Given the description of an element on the screen output the (x, y) to click on. 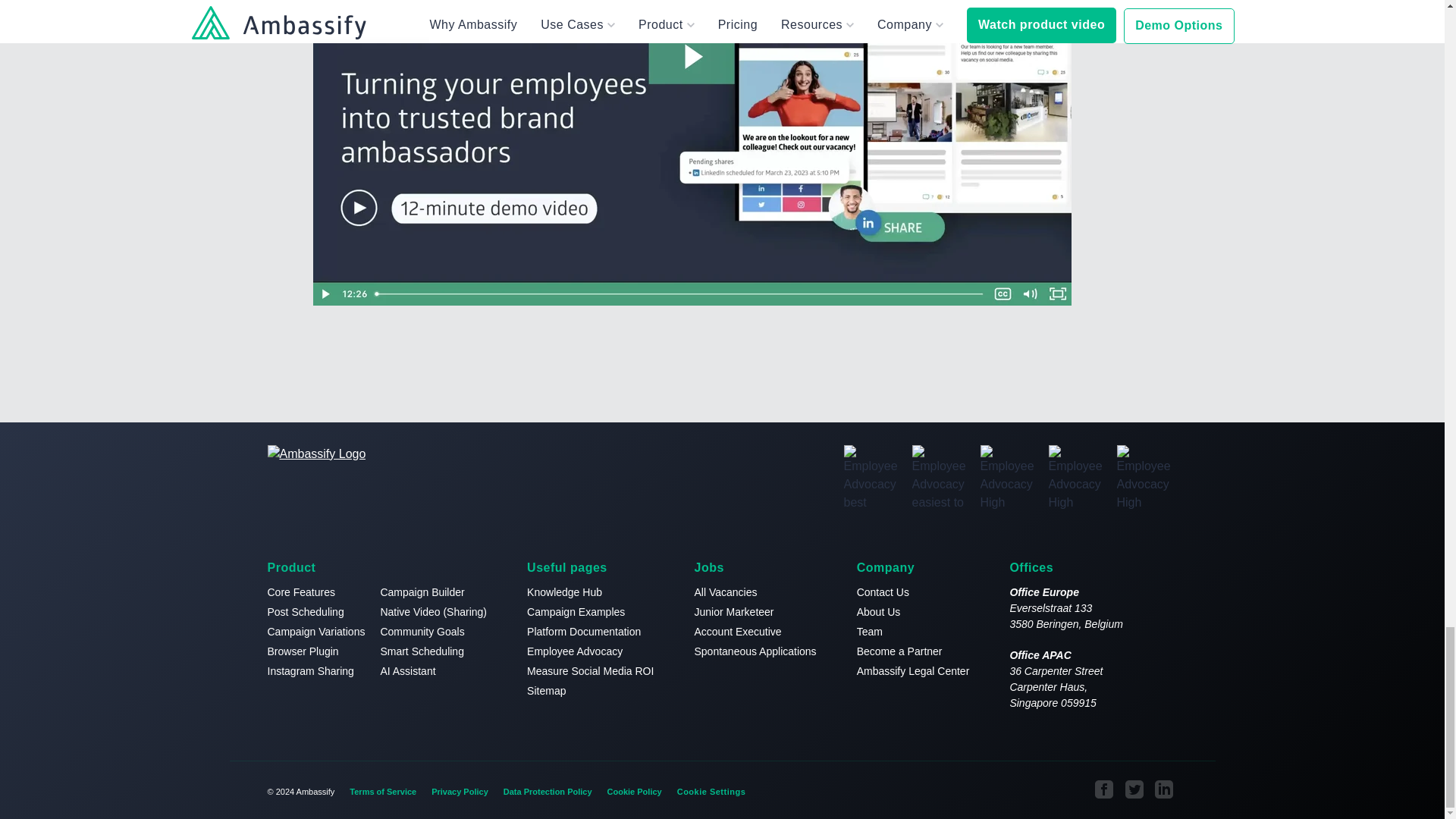
Visit our Ambassify LinkedIn page (1164, 789)
Visit our Ambassify Twitter page (1134, 789)
Visit our Ambassify Facebook page (1104, 789)
